Given the description of an element on the screen output the (x, y) to click on. 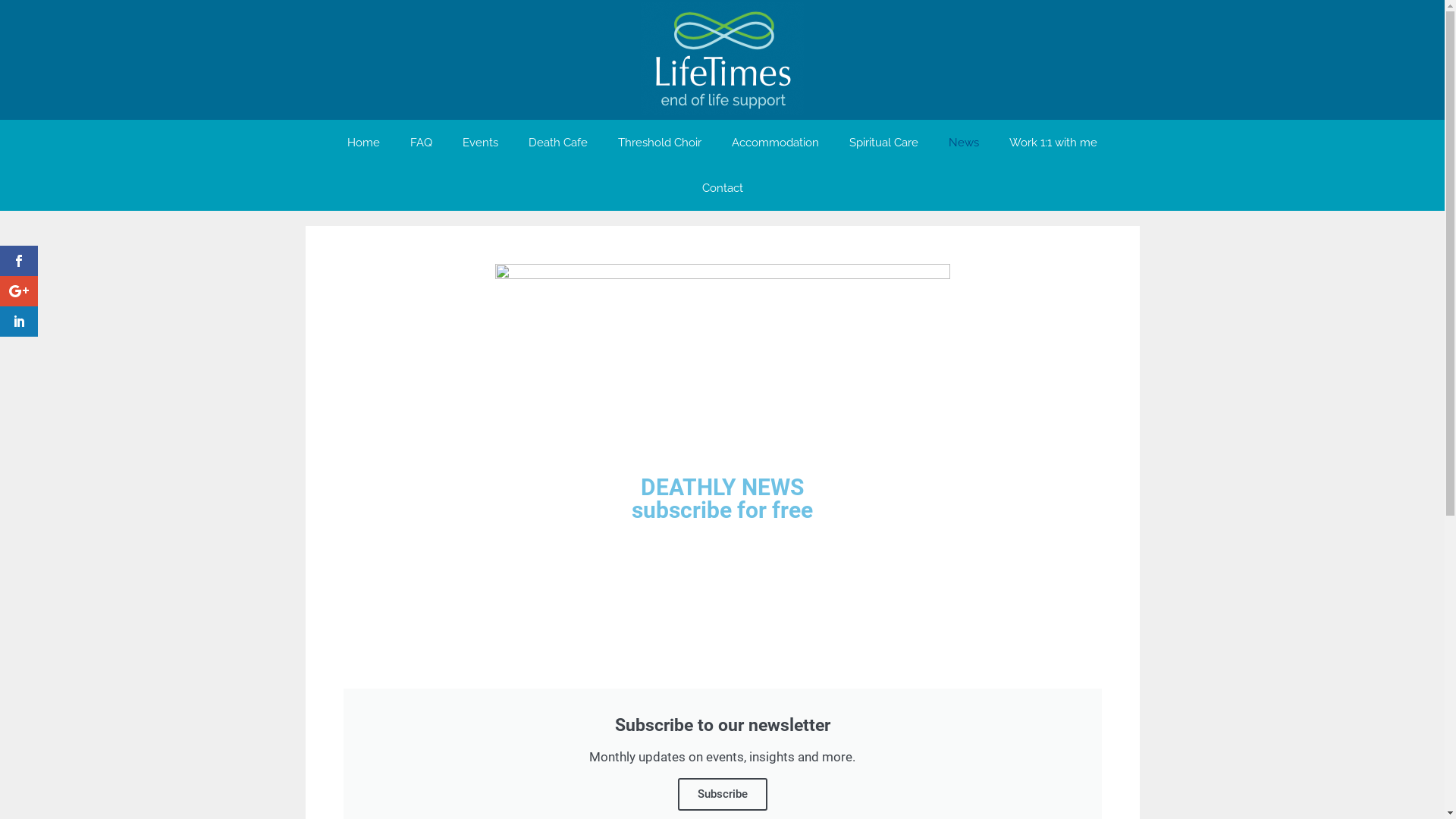
News Element type: text (963, 142)
Work 1:1 with me Element type: text (1053, 142)
DEATHLY NEWS
subscribe for free Element type: text (721, 520)
Accommodation Element type: text (775, 142)
Spiritual Care Element type: text (883, 142)
Home Element type: text (363, 142)
Threshold Choir Element type: text (659, 142)
Contact Element type: text (722, 187)
Events Element type: text (480, 142)
FAQ Element type: text (421, 142)
Death Cafe Element type: text (557, 142)
Subscribe Element type: text (722, 794)
